Given the description of an element on the screen output the (x, y) to click on. 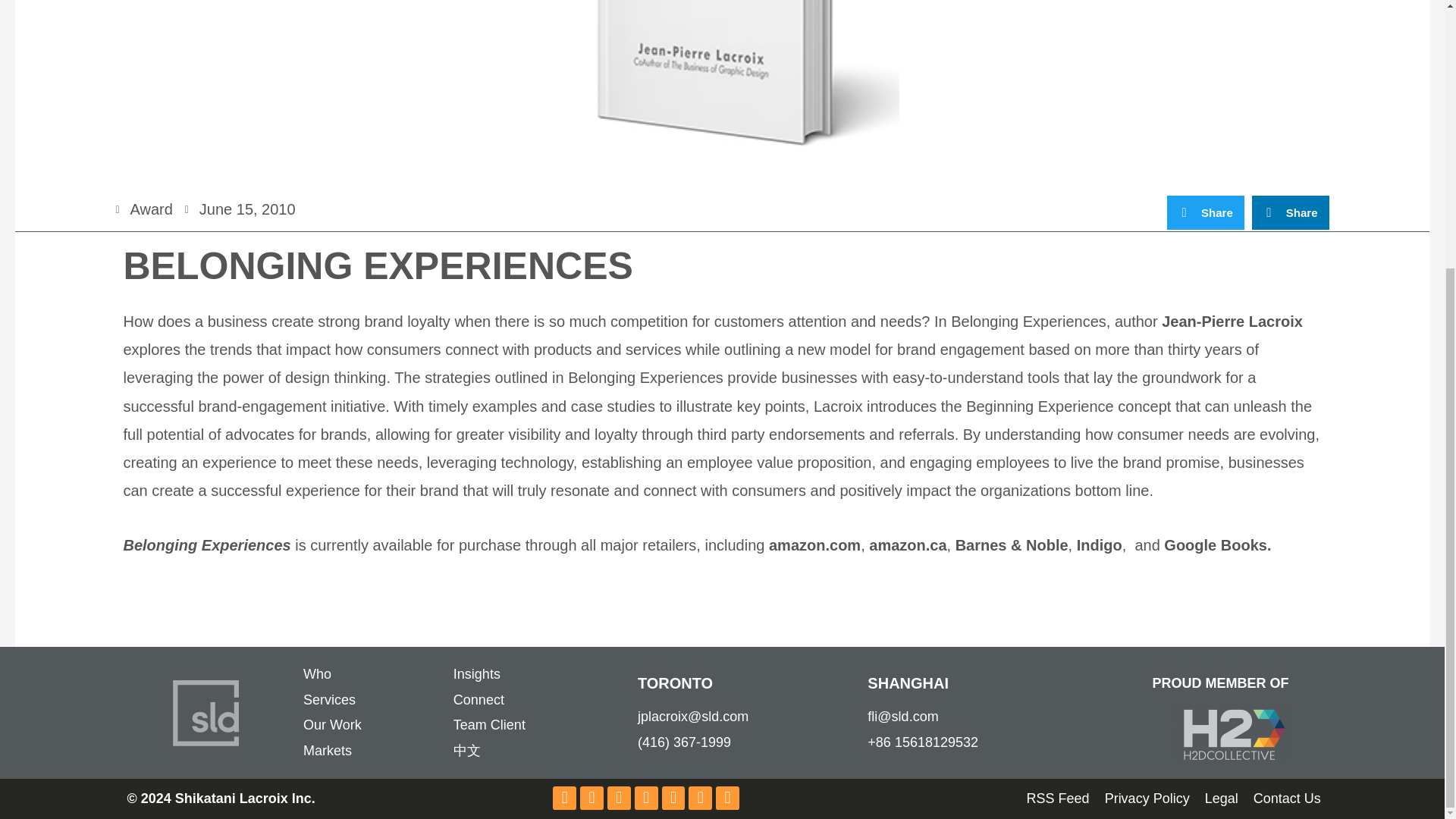
Screen Shot 2021-09-16 at 10.43.10 AM (1231, 732)
